Given the description of an element on the screen output the (x, y) to click on. 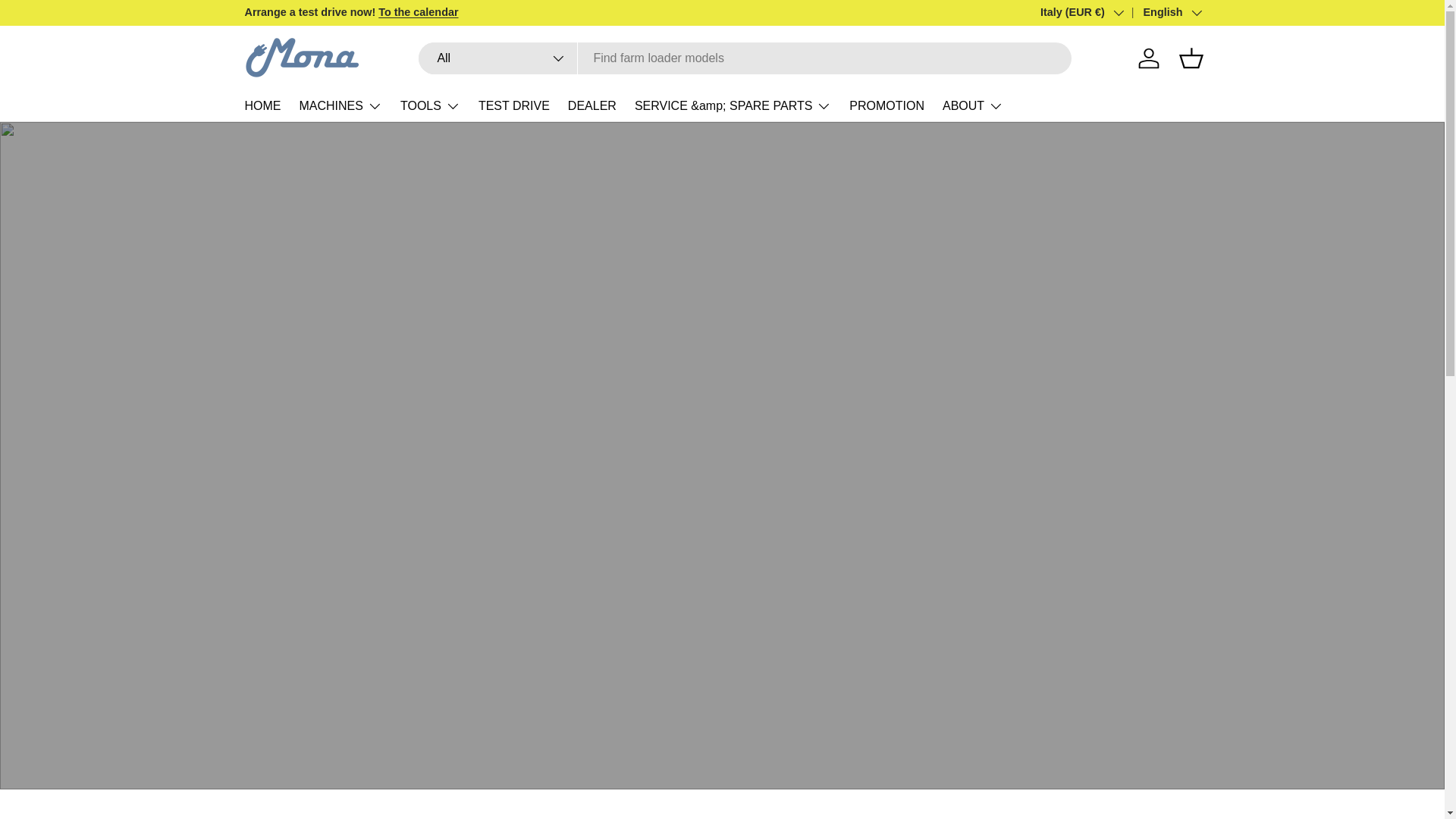
To the calendar (418, 11)
Basket (1190, 58)
Arrange test drive (418, 11)
HOME (262, 105)
Log in (1147, 58)
PROMOTION (886, 105)
ABOUT (972, 105)
TOOLS (430, 105)
TEST DRIVE (514, 105)
English (1160, 12)
